Given the description of an element on the screen output the (x, y) to click on. 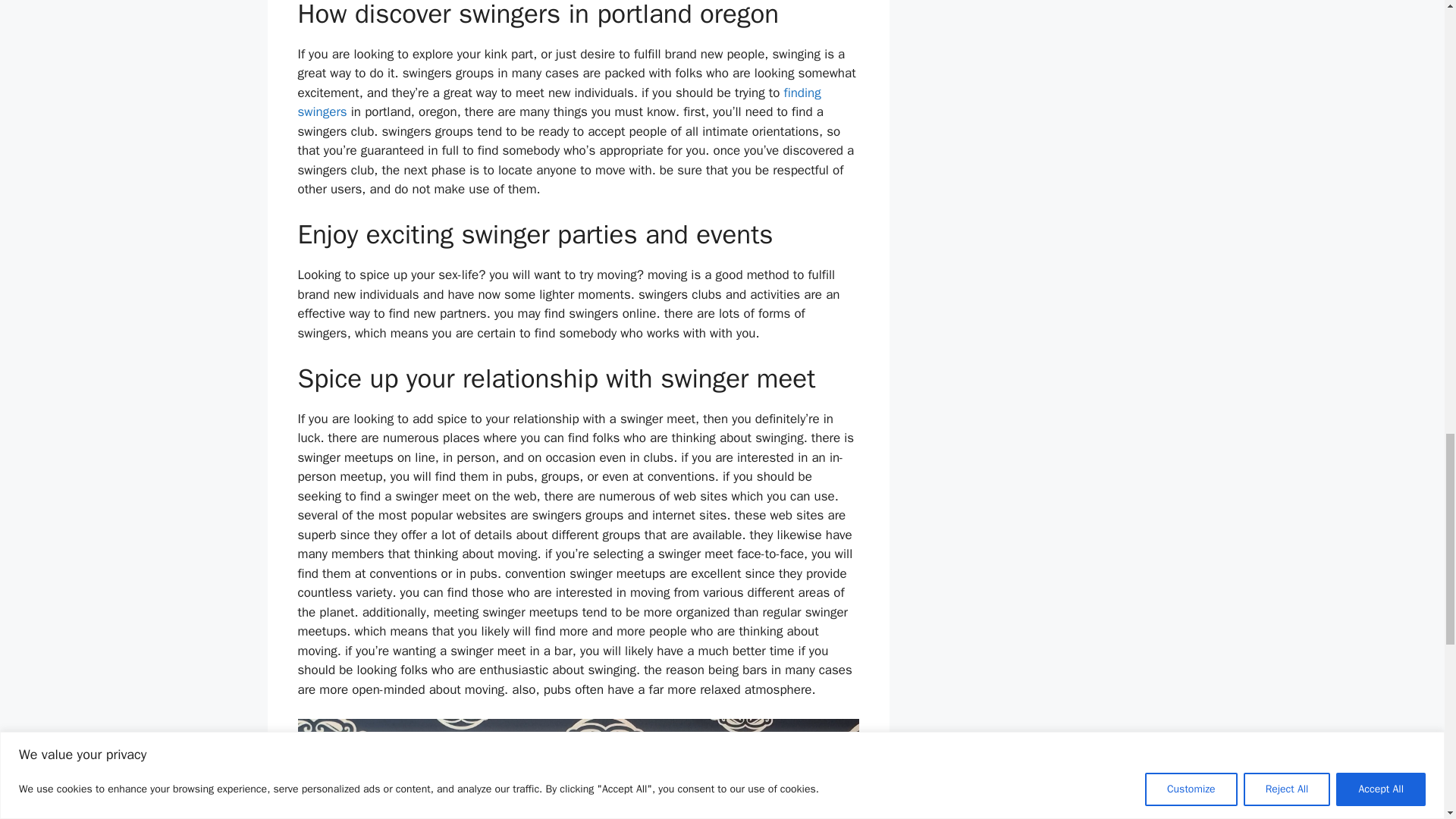
Join our community and discover your perfect match today 1 (578, 769)
